Given the description of an element on the screen output the (x, y) to click on. 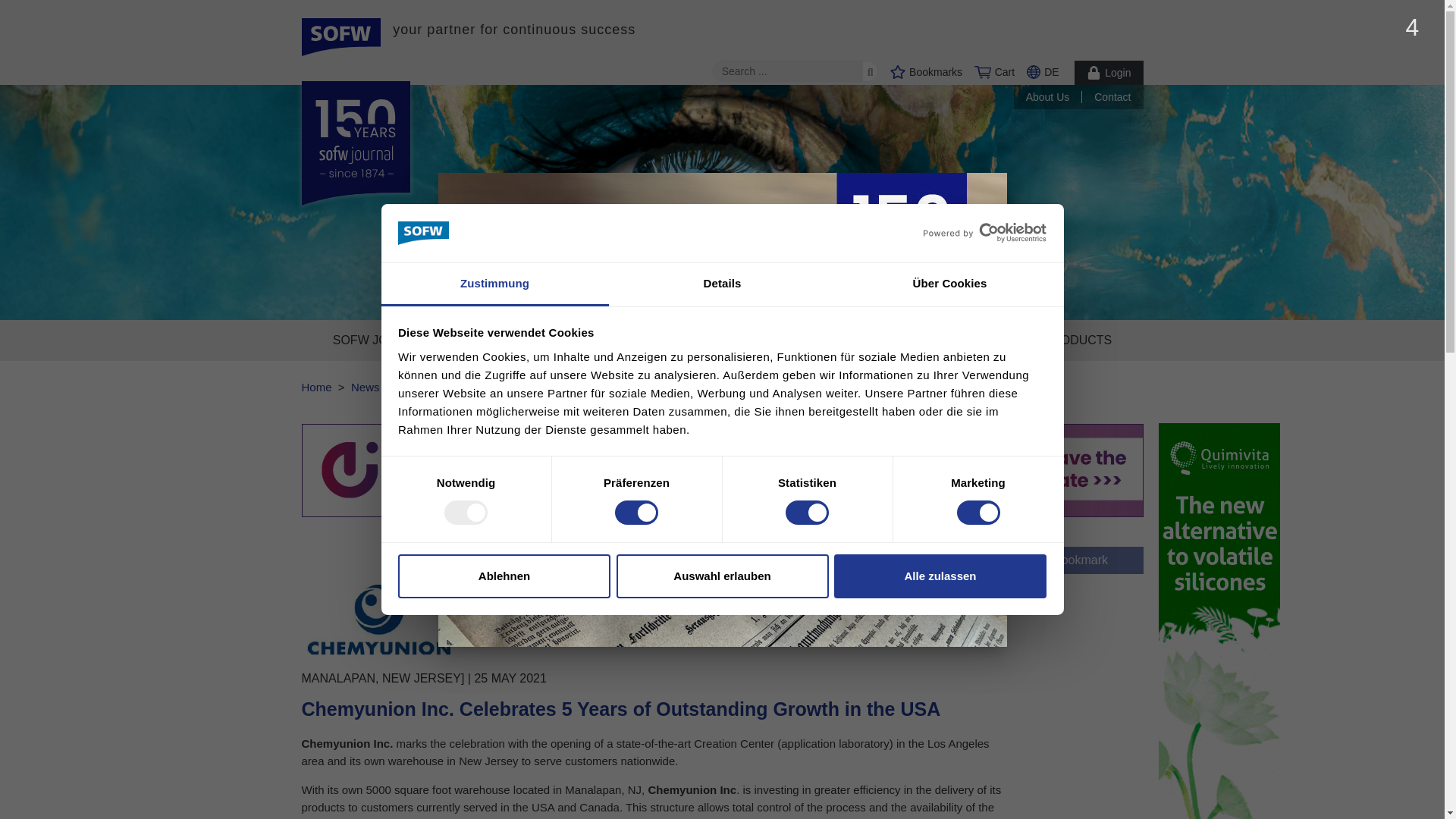
Cart (994, 71)
Ablehnen (503, 576)
Contact (1118, 96)
Zustimmung (494, 284)
Login (1108, 72)
Details (721, 284)
Alle zulassen (940, 576)
Bookmark (1079, 560)
Auswahl erlauben (721, 576)
Bookmarks (925, 71)
About Us (1054, 96)
DE (1042, 71)
SOFW JOURNAL (381, 340)
